Given the description of an element on the screen output the (x, y) to click on. 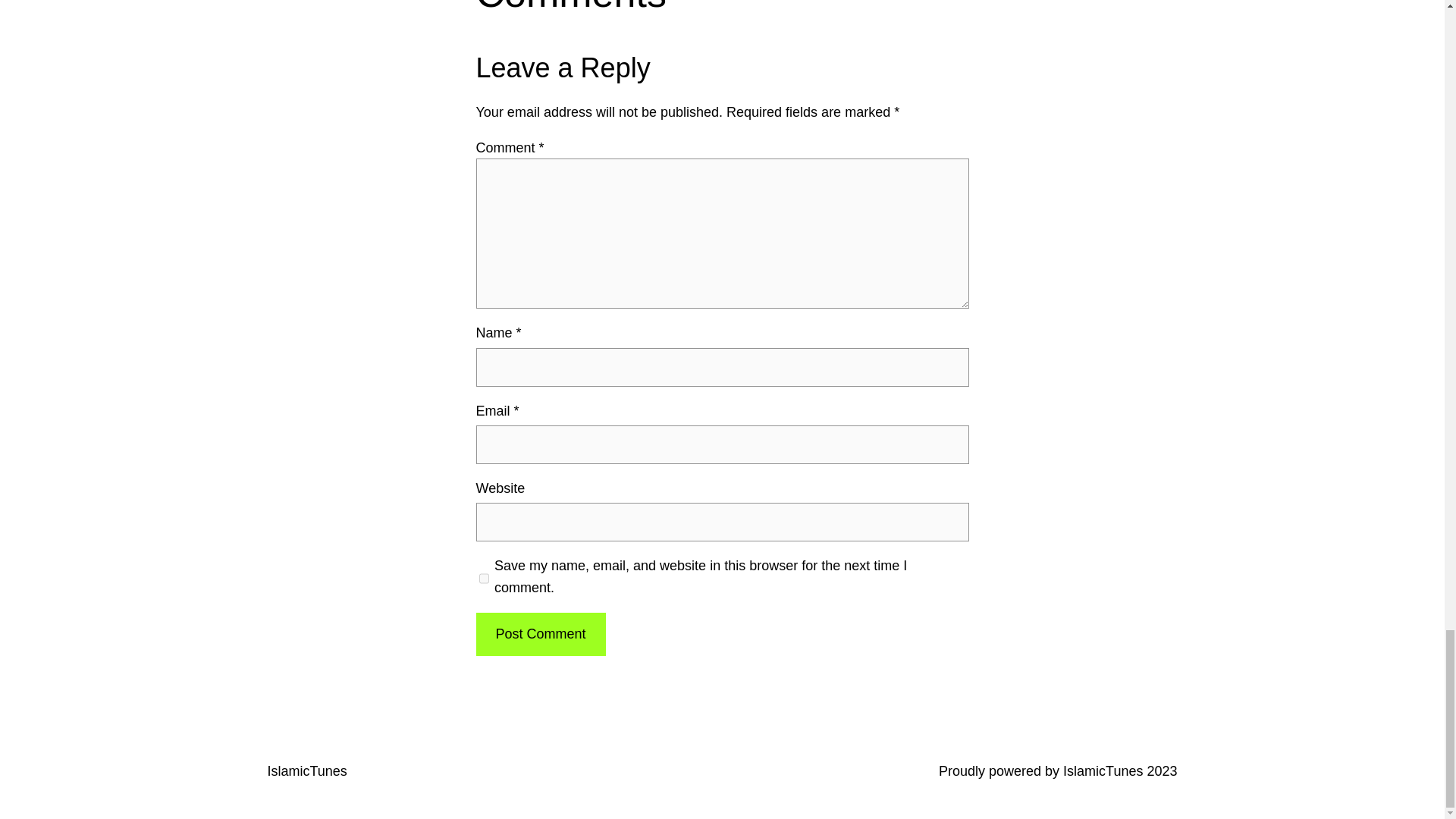
Post Comment (540, 634)
yes (484, 578)
IslamicTunes (306, 770)
Post Comment (540, 634)
